Given the description of an element on the screen output the (x, y) to click on. 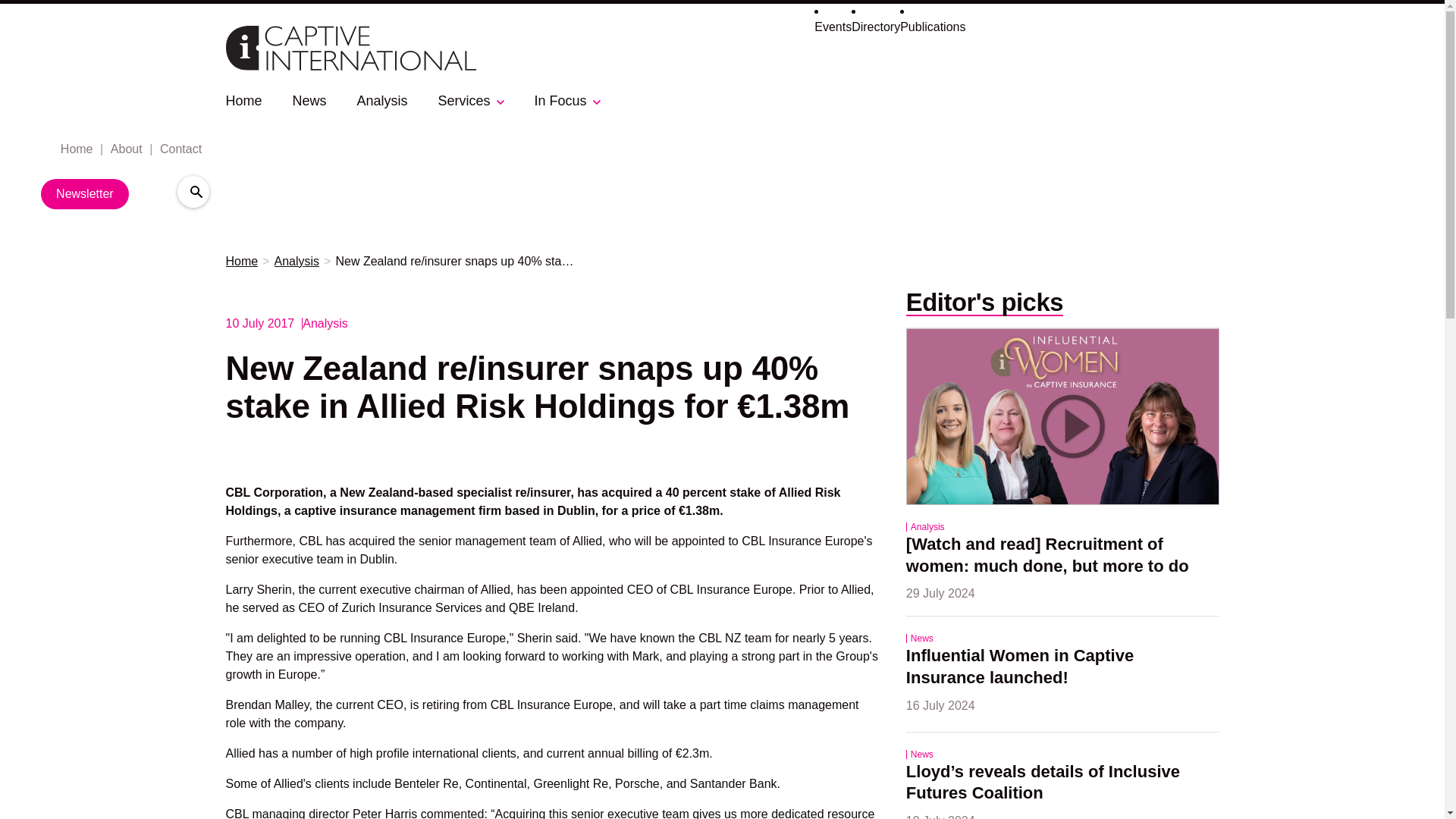
Influential Women in Captive Insurance launched! (1021, 667)
Newsletter (84, 194)
News (309, 100)
About (124, 149)
Analysis (381, 100)
Publications (932, 27)
Contact (178, 149)
Directory (875, 27)
Home (242, 261)
Events (832, 27)
Analysis (297, 261)
Home (76, 149)
Home (243, 100)
Services (464, 100)
In Focus (560, 100)
